Given the description of an element on the screen output the (x, y) to click on. 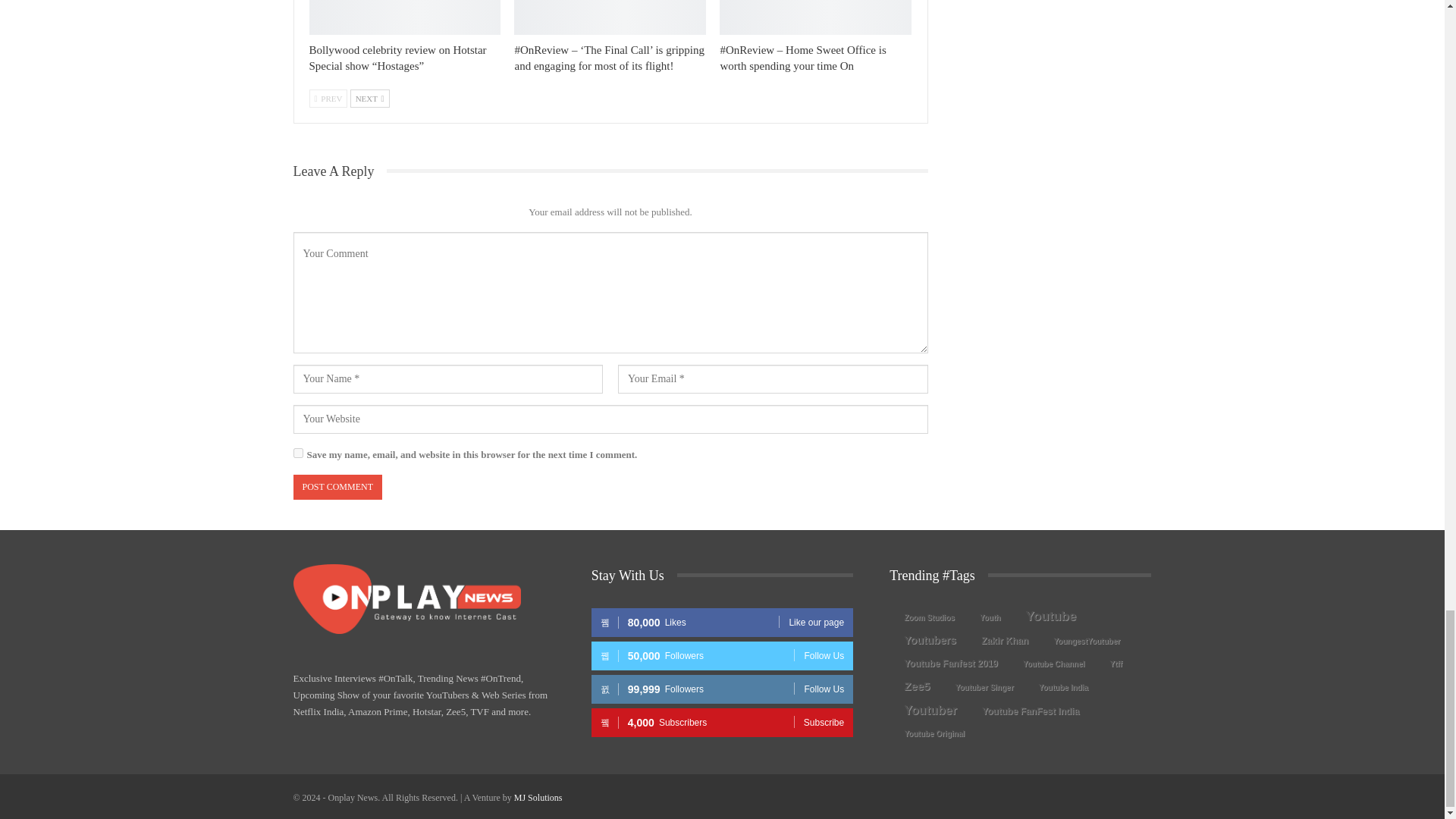
yes (297, 452)
Post Comment (336, 487)
